Given the description of an element on the screen output the (x, y) to click on. 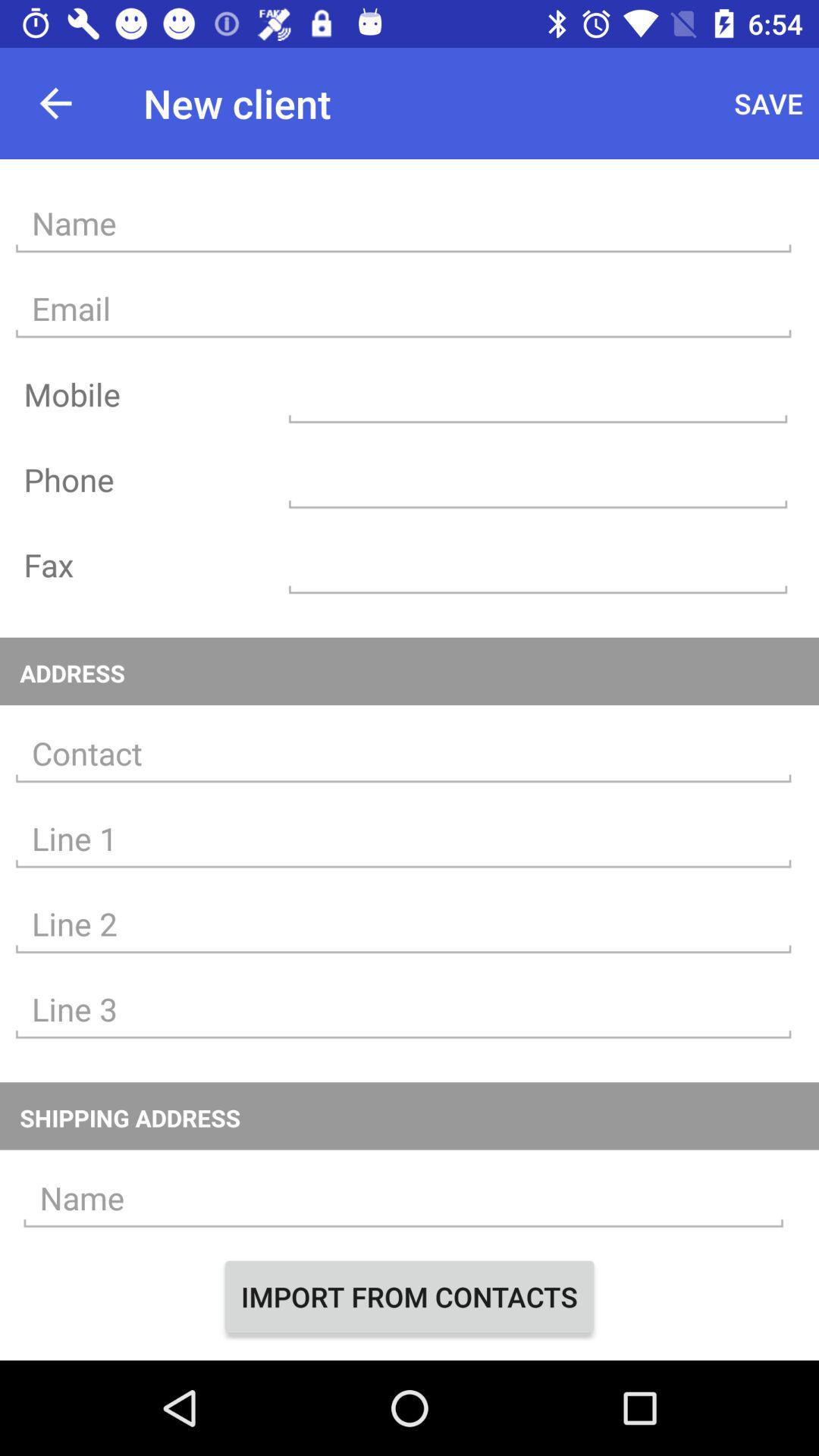
enter fax number (537, 564)
